Given the description of an element on the screen output the (x, y) to click on. 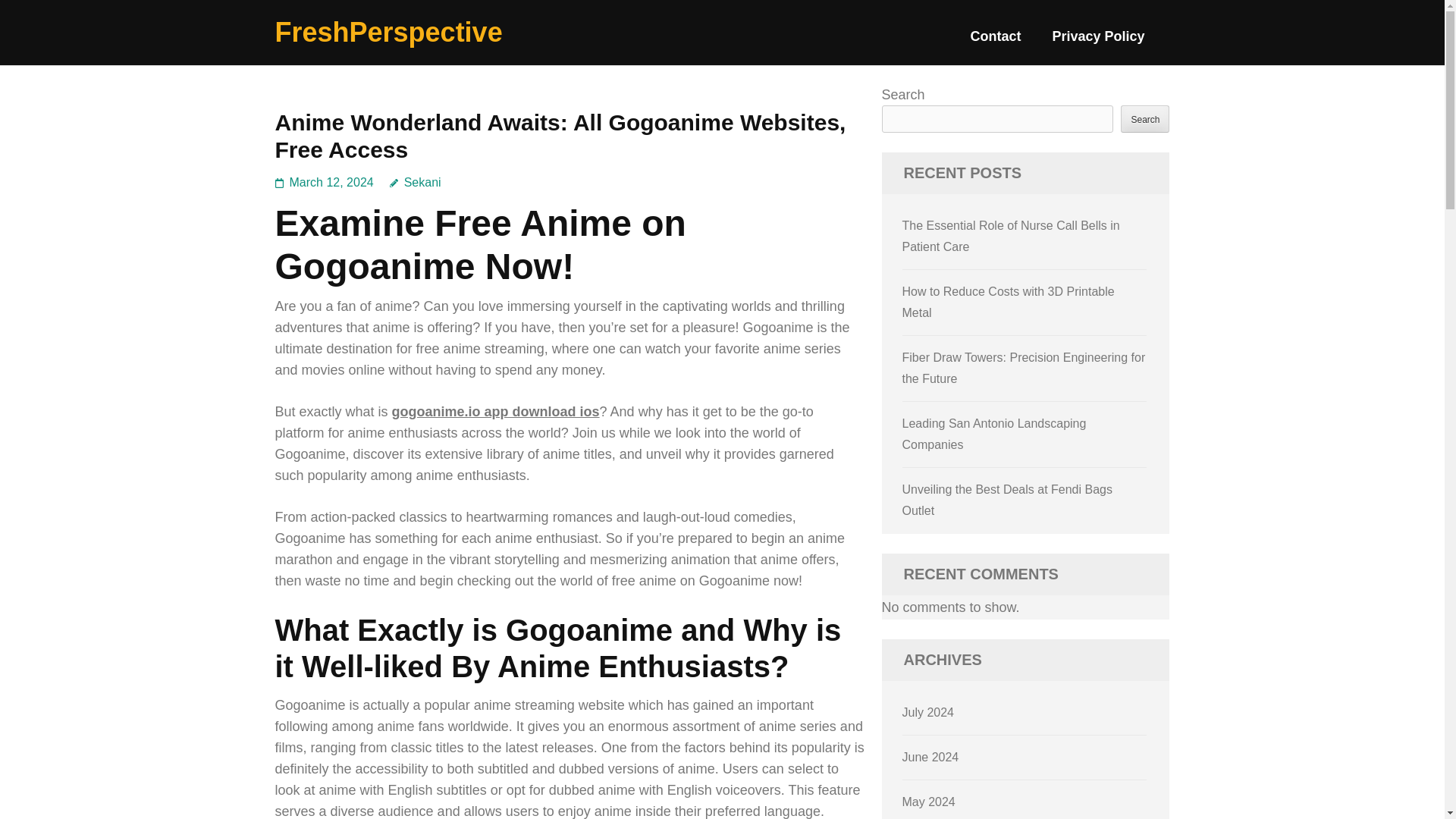
How to Reduce Costs with 3D Printable Metal (1008, 302)
May 2024 (928, 801)
Search (1145, 118)
June 2024 (930, 757)
FreshPerspective (388, 31)
Sekani (415, 182)
The Essential Role of Nurse Call Bells in Patient Care (1010, 236)
Unveiling the Best Deals at Fendi Bags Outlet (1007, 499)
Privacy Policy (1097, 42)
Contact (994, 42)
Leading San Antonio Landscaping Companies (994, 433)
gogoanime.io app download ios (495, 411)
March 12, 2024 (331, 182)
July 2024 (928, 712)
Fiber Draw Towers: Precision Engineering for the Future (1023, 367)
